Given the description of an element on the screen output the (x, y) to click on. 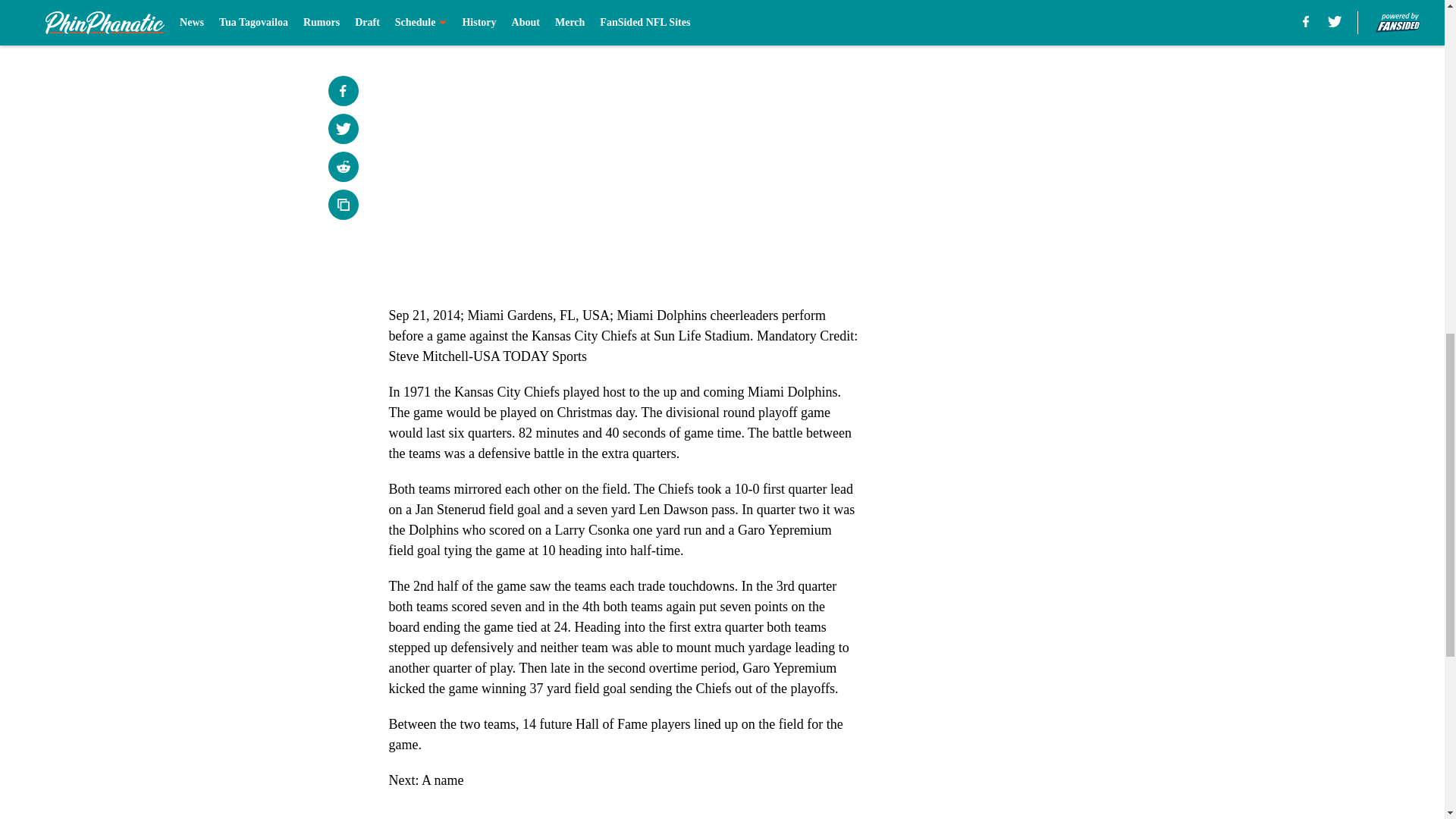
Prev (433, 5)
Next (813, 5)
